Given the description of an element on the screen output the (x, y) to click on. 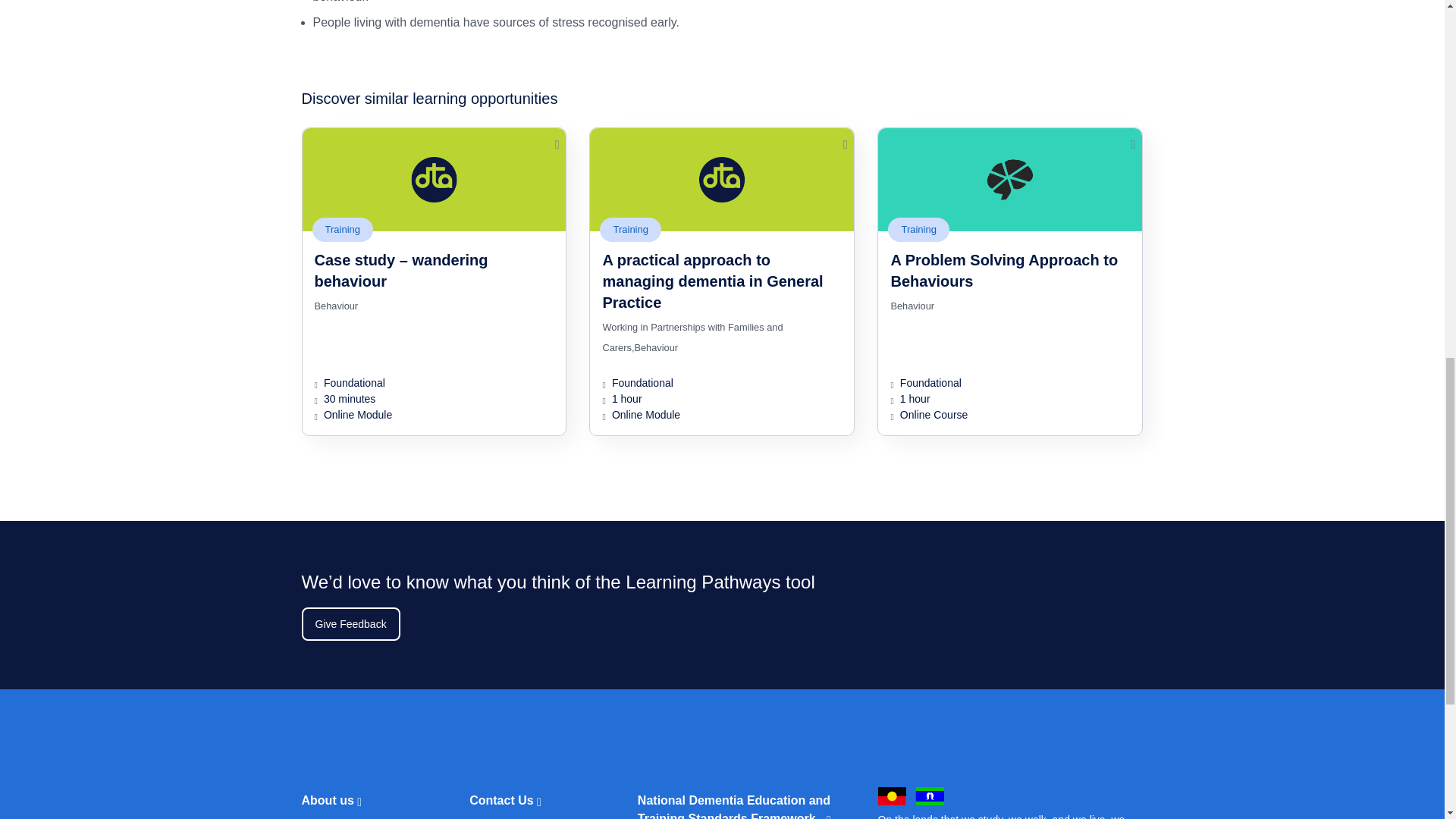
Terms of Use (362, 816)
National Dementia Education and Training Standards Framework (734, 802)
Enquiries (529, 816)
About us (362, 800)
Contact Us (529, 800)
